Given the description of an element on the screen output the (x, y) to click on. 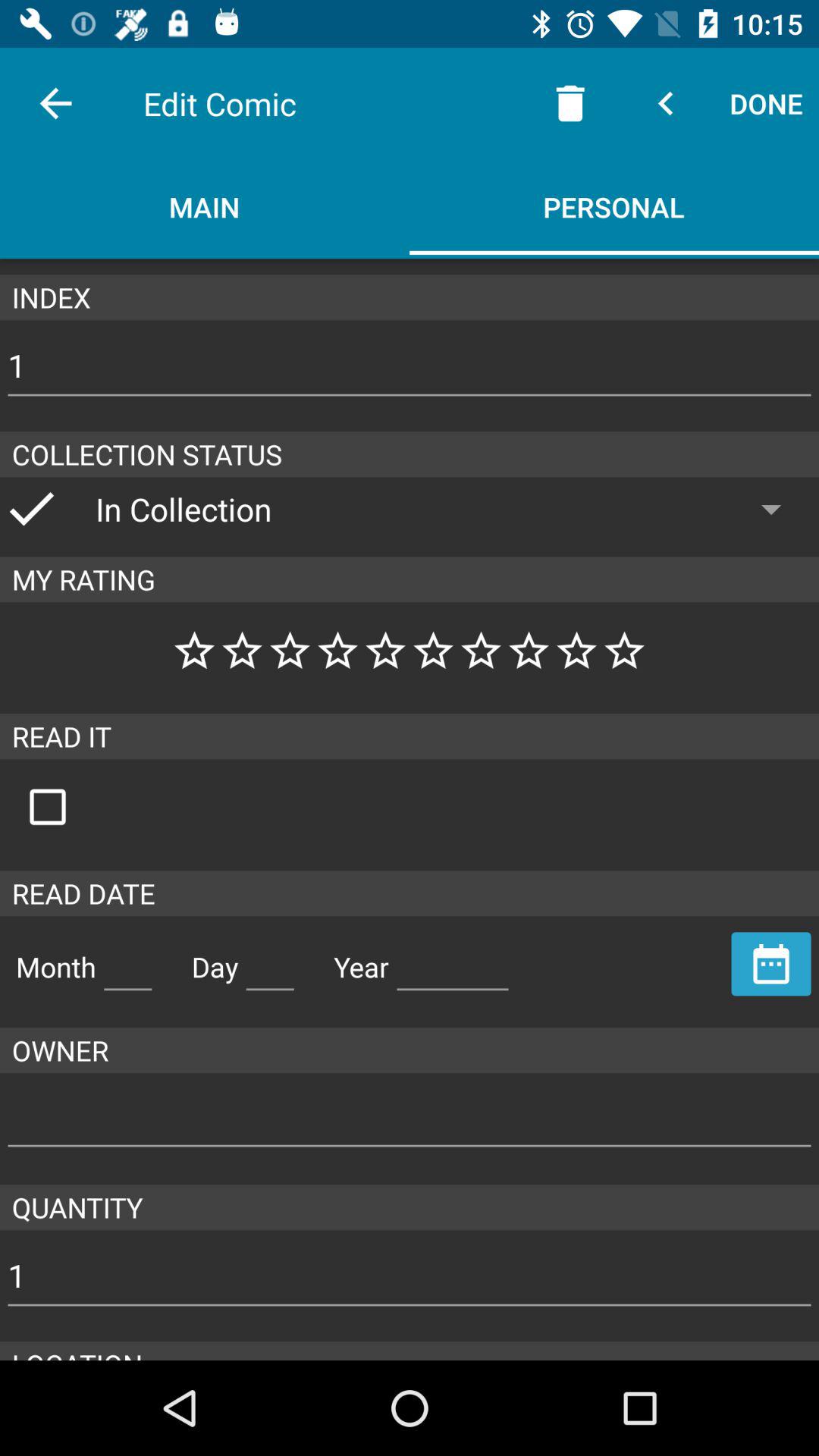
typing box (452, 961)
